Given the description of an element on the screen output the (x, y) to click on. 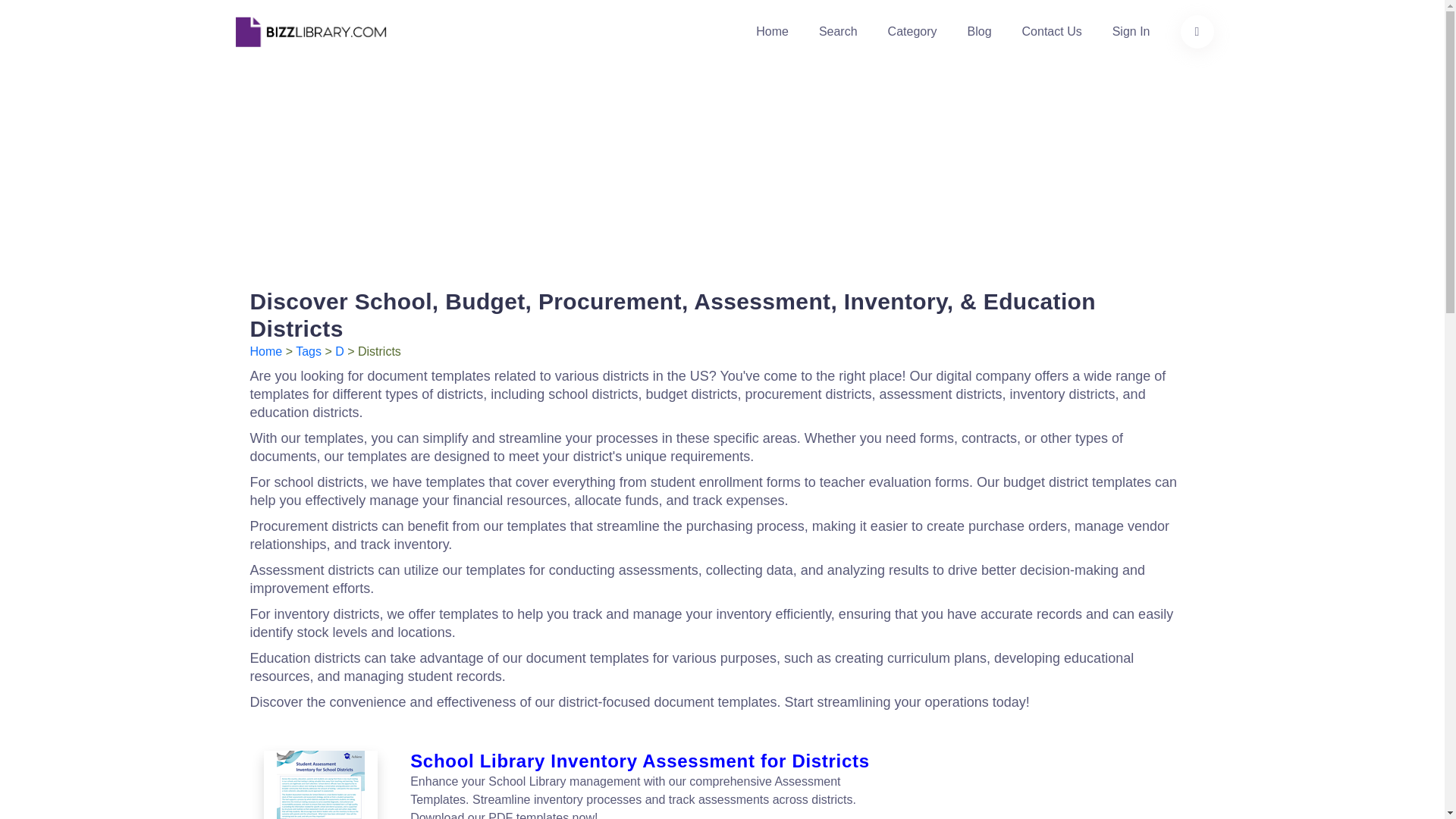
Homepage (772, 31)
Find the template you need (1195, 31)
Find your Template (837, 31)
Template tags (308, 350)
Sign in to your account (1131, 31)
School Library Inventory Assessment for Districts (320, 785)
Contact Informations (1051, 31)
Category (912, 31)
School Library Inventory Assessment for Districts (641, 762)
Homepage (266, 350)
Template Categories (912, 31)
Tags (308, 350)
School Library Inventory Assessment for Districts (321, 785)
